Given the description of an element on the screen output the (x, y) to click on. 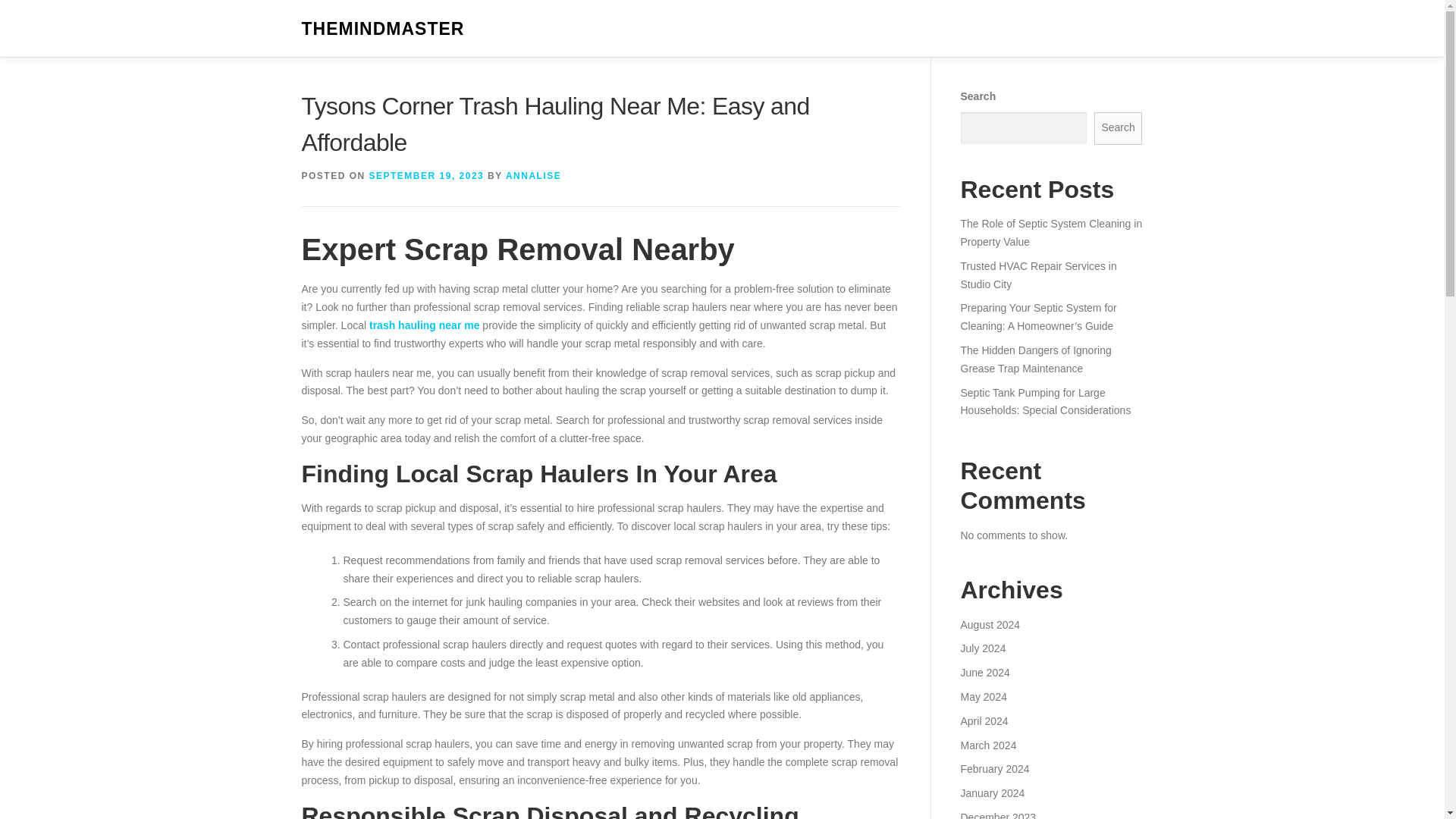
Search (1118, 128)
The Hidden Dangers of Ignoring Grease Trap Maintenance (1034, 358)
June 2024 (984, 672)
ANNALISE (532, 175)
August 2024 (989, 624)
trash hauling near me (424, 325)
December 2023 (997, 815)
February 2024 (994, 768)
SEPTEMBER 19, 2023 (426, 175)
May 2024 (982, 696)
March 2024 (987, 744)
April 2024 (983, 720)
July 2024 (982, 648)
Trusted HVAC Repair Services in Studio City (1037, 275)
